Given the description of an element on the screen output the (x, y) to click on. 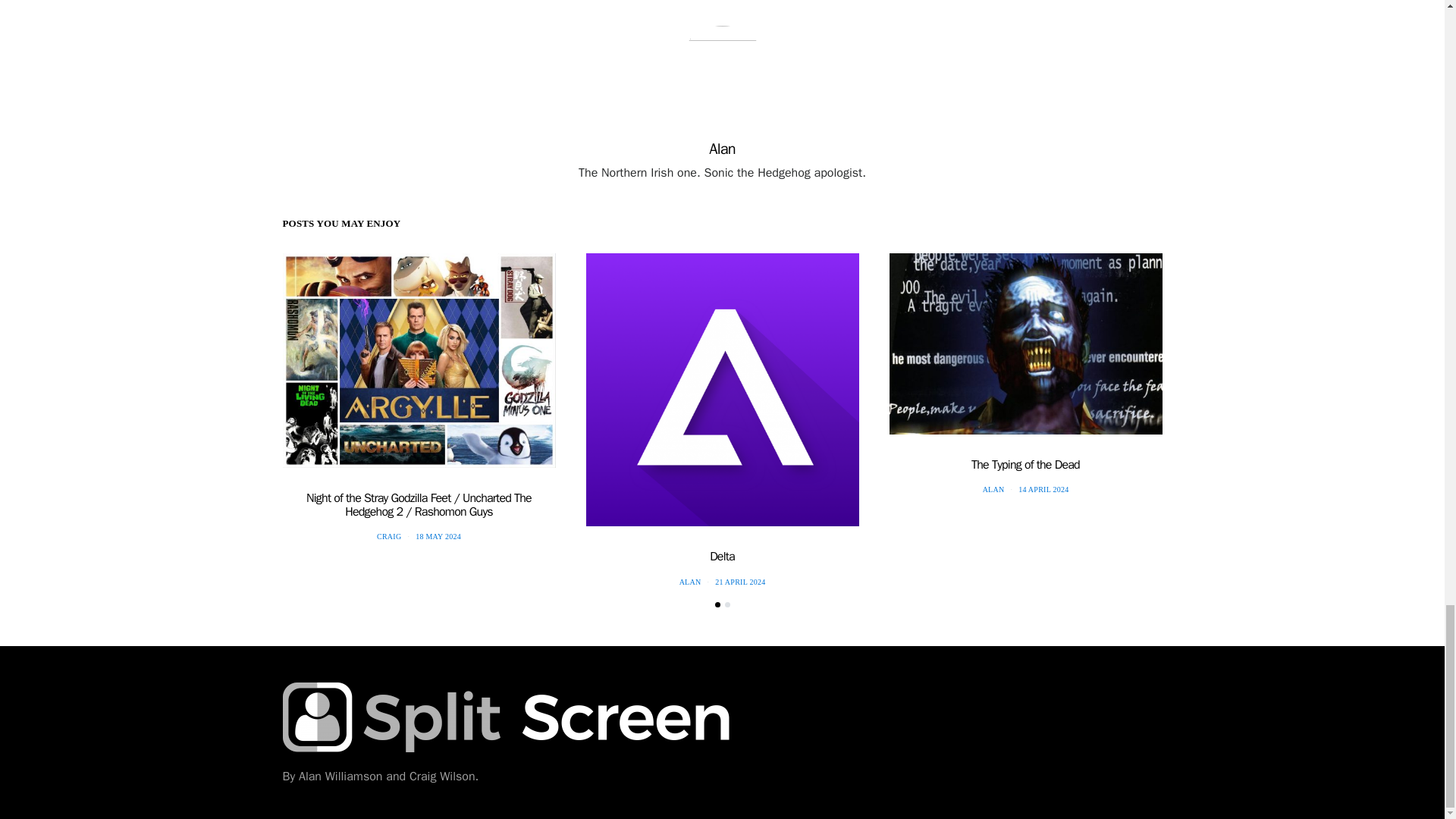
View all posts by Craig (389, 536)
View all posts by Alan (993, 489)
View all posts by Alan (690, 582)
